Given the description of an element on the screen output the (x, y) to click on. 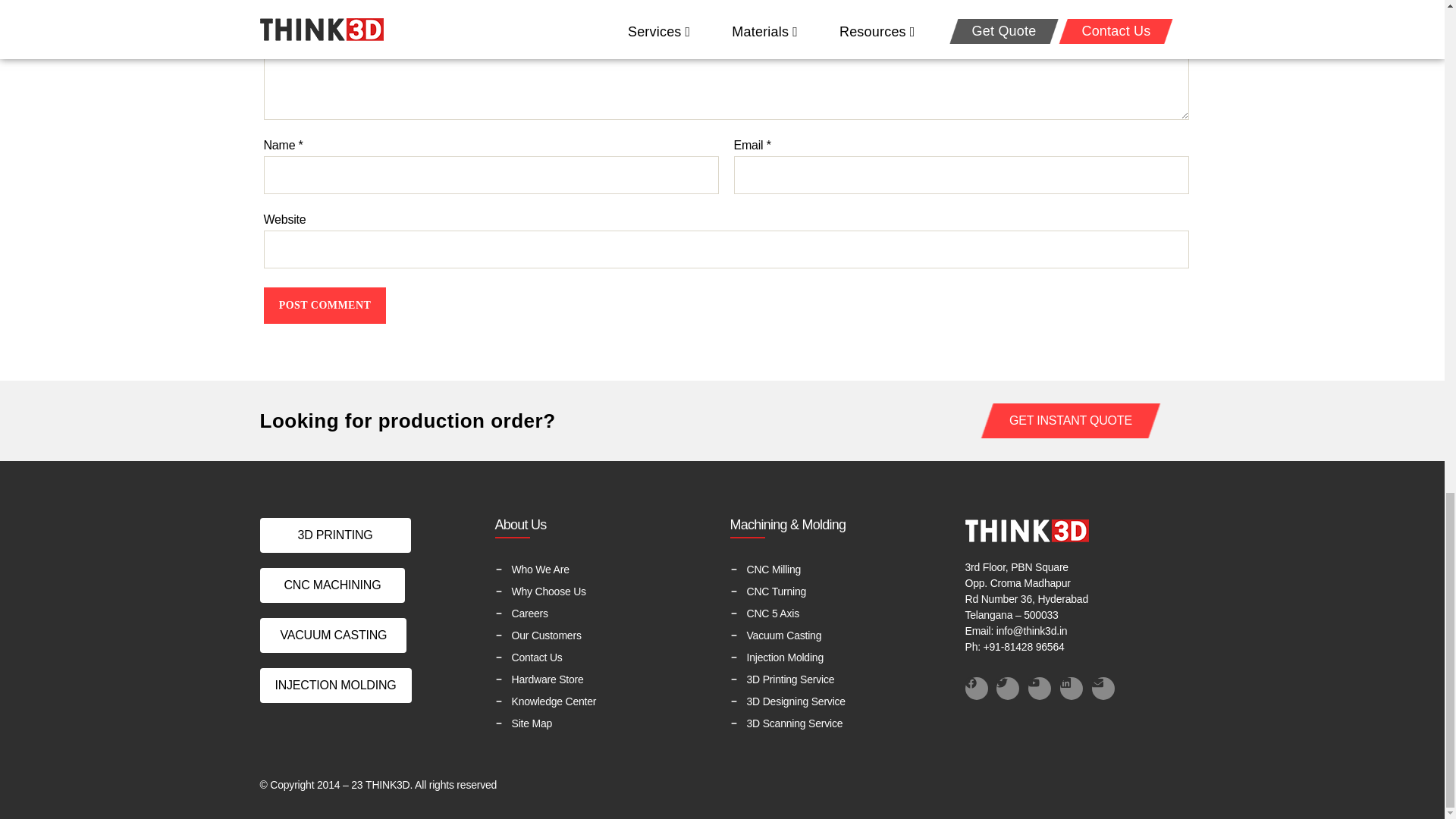
Post Comment (325, 305)
